Given the description of an element on the screen output the (x, y) to click on. 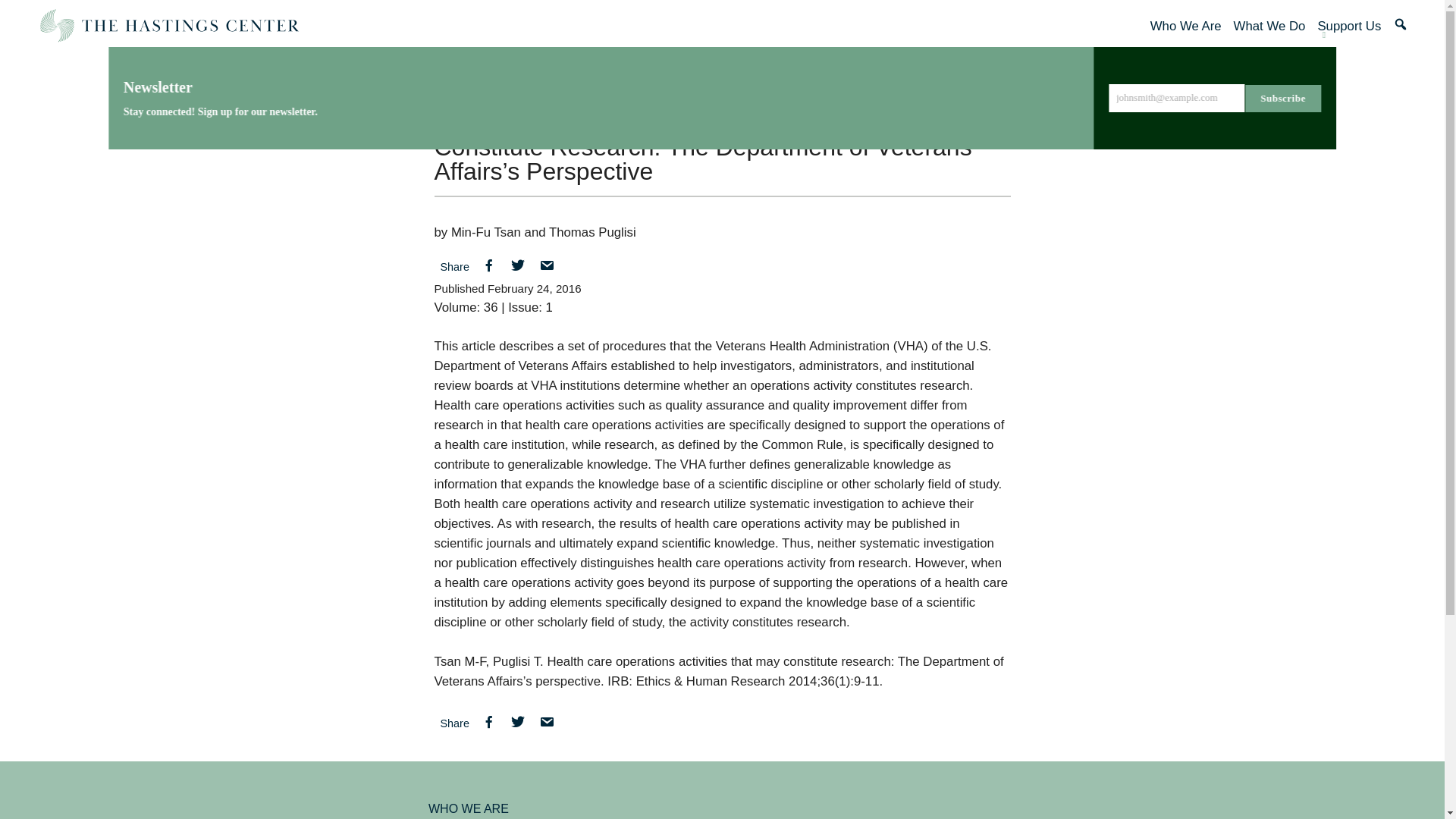
The Hastings Center (168, 26)
Support Us (1348, 26)
Who We Are (1185, 26)
What We Do (1269, 26)
